Given the description of an element on the screen output the (x, y) to click on. 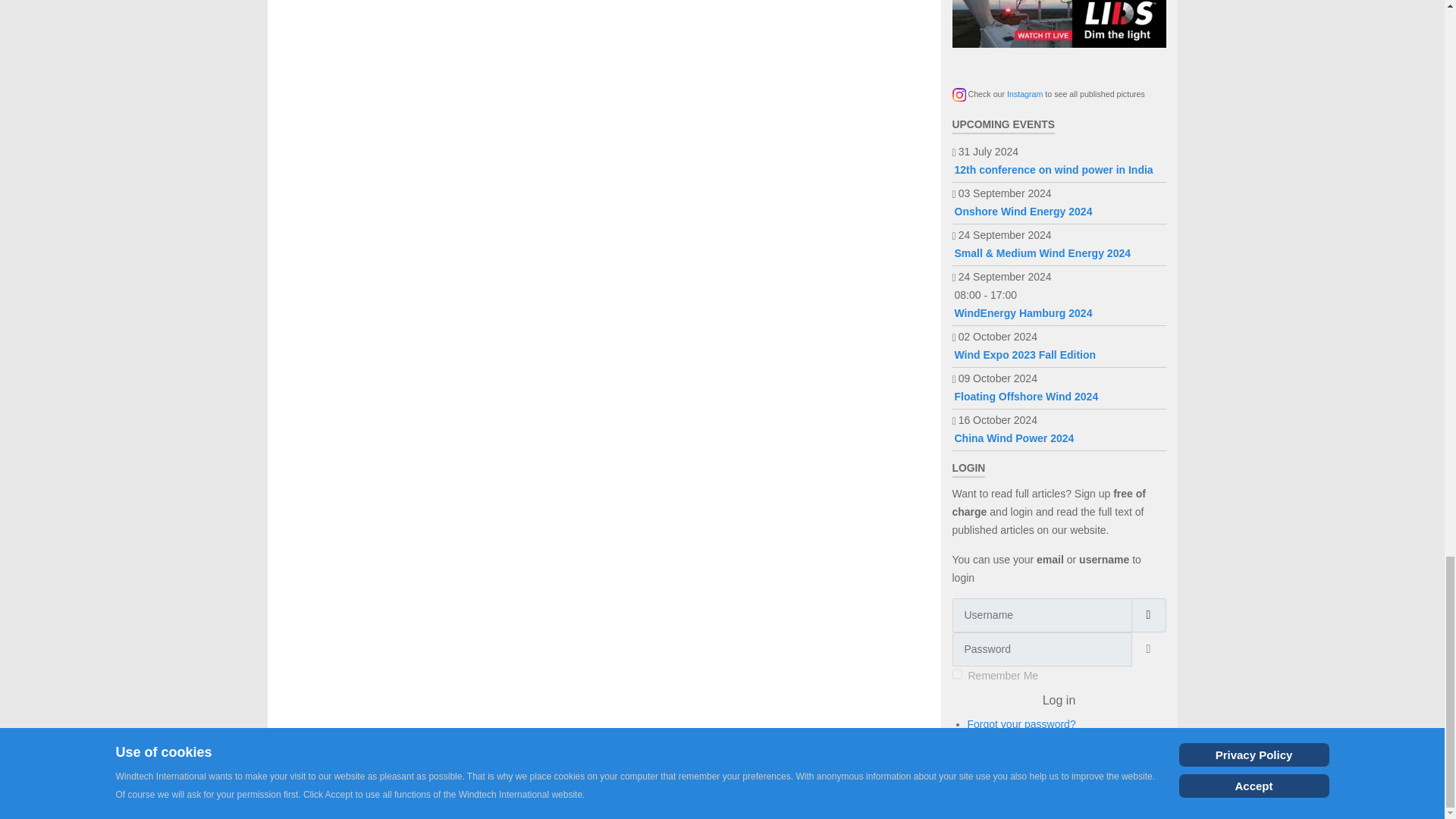
Username (1148, 615)
yes (957, 674)
